Given the description of an element on the screen output the (x, y) to click on. 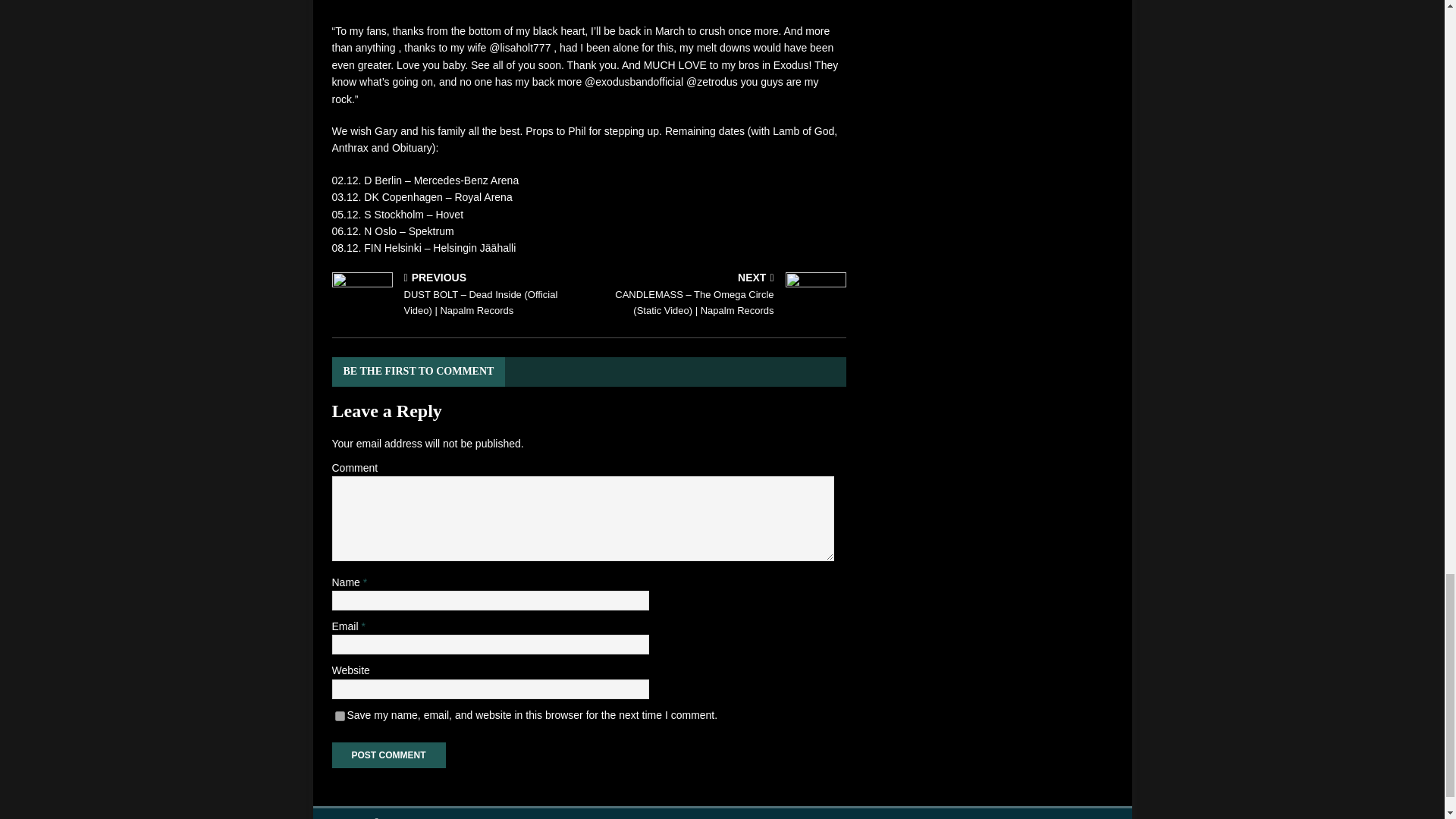
Post Comment (388, 755)
yes (339, 716)
